Given the description of an element on the screen output the (x, y) to click on. 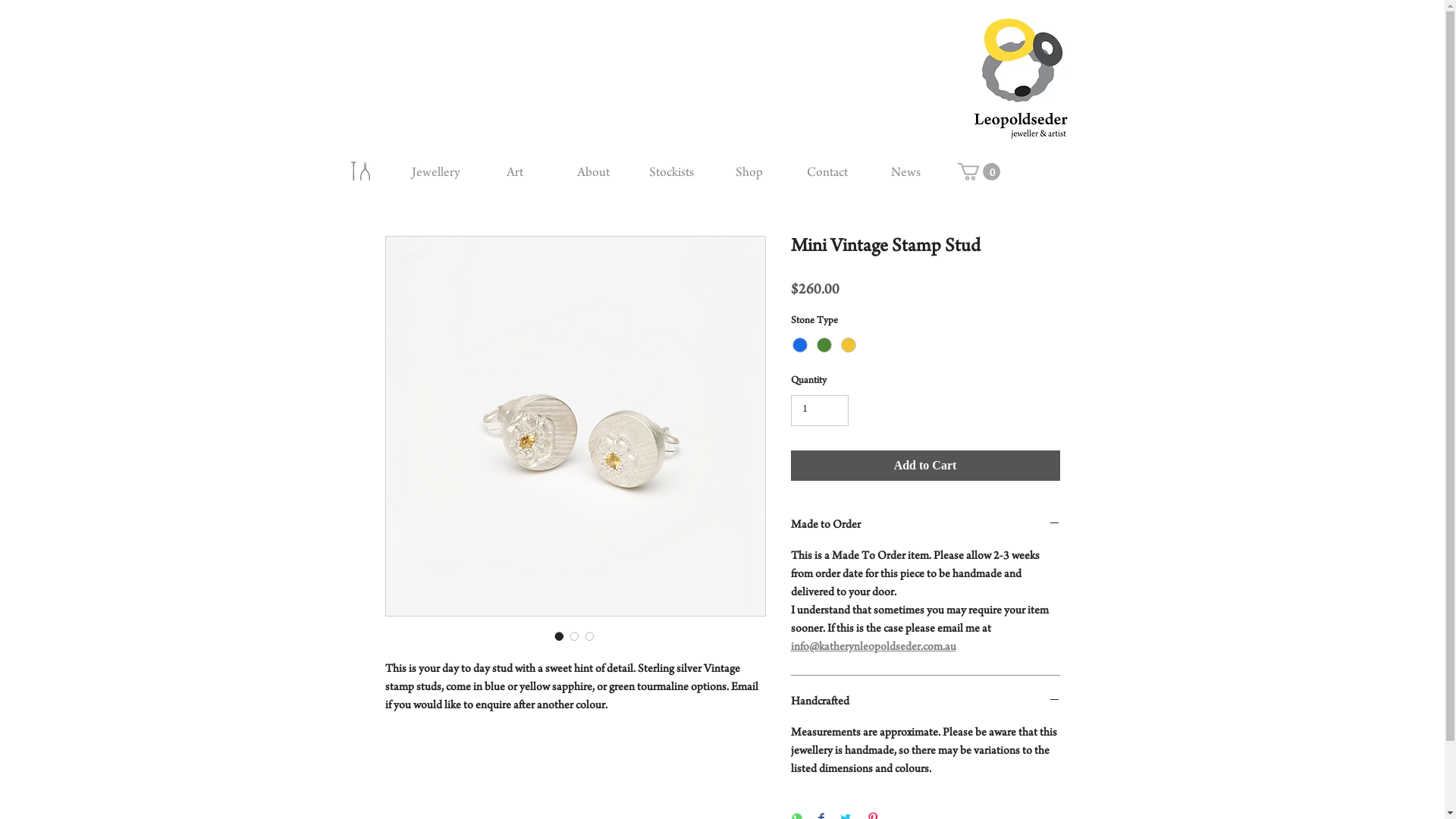
News Element type: text (905, 173)
Made to Order Element type: text (924, 525)
Art Element type: text (513, 173)
Shop Element type: text (748, 173)
Home Element type: hover (359, 170)
About Element type: text (592, 173)
Add to Cart Element type: text (924, 465)
Contact Element type: text (827, 173)
Jewellery Element type: text (434, 173)
0 Element type: text (978, 171)
Stockists Element type: text (671, 173)
Handcrafted Element type: text (924, 702)
info@katherynleopoldseder.com.au Element type: text (872, 647)
